Given the description of an element on the screen output the (x, y) to click on. 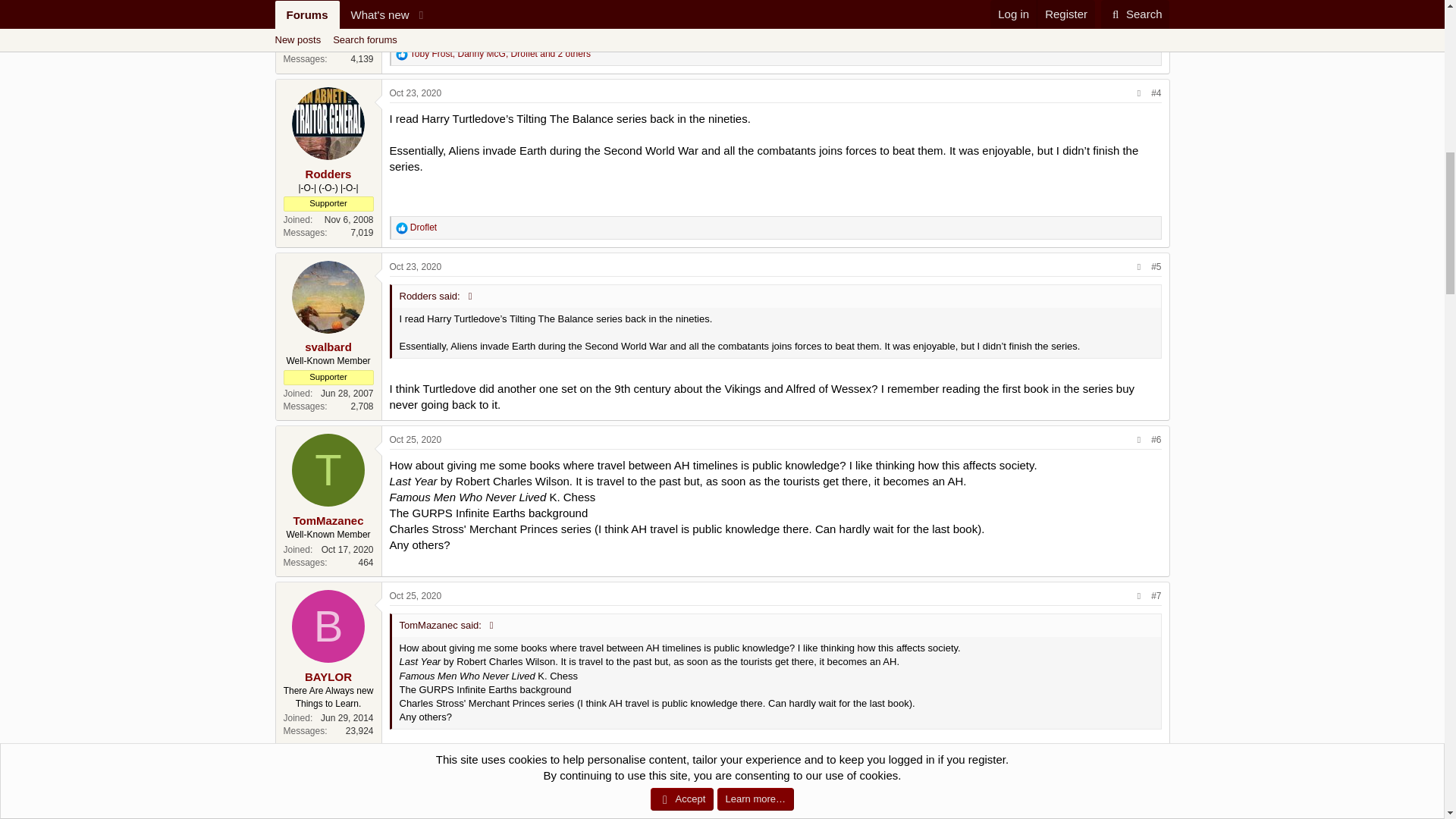
Oct 25, 2020 at 5:01 PM (416, 595)
Oct 23, 2020 at 7:50 PM (416, 92)
Oct 25, 2020 at 4:54 PM (416, 439)
Like (401, 227)
Oct 23, 2020 at 10:40 PM (416, 266)
Like (401, 54)
